Given the description of an element on the screen output the (x, y) to click on. 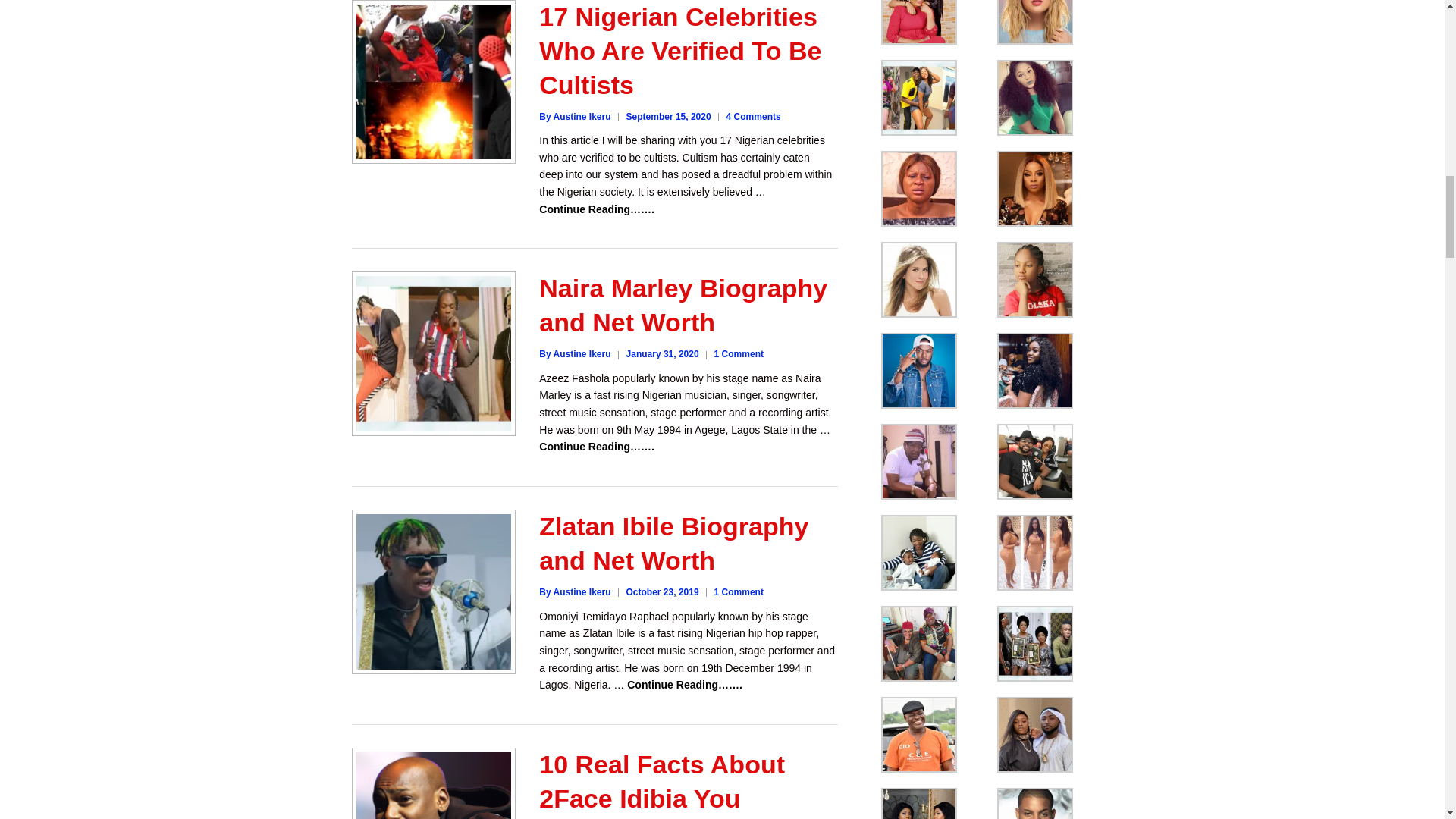
Austine Ikeru (574, 116)
Austine Ikeru (574, 353)
